Given the description of an element on the screen output the (x, y) to click on. 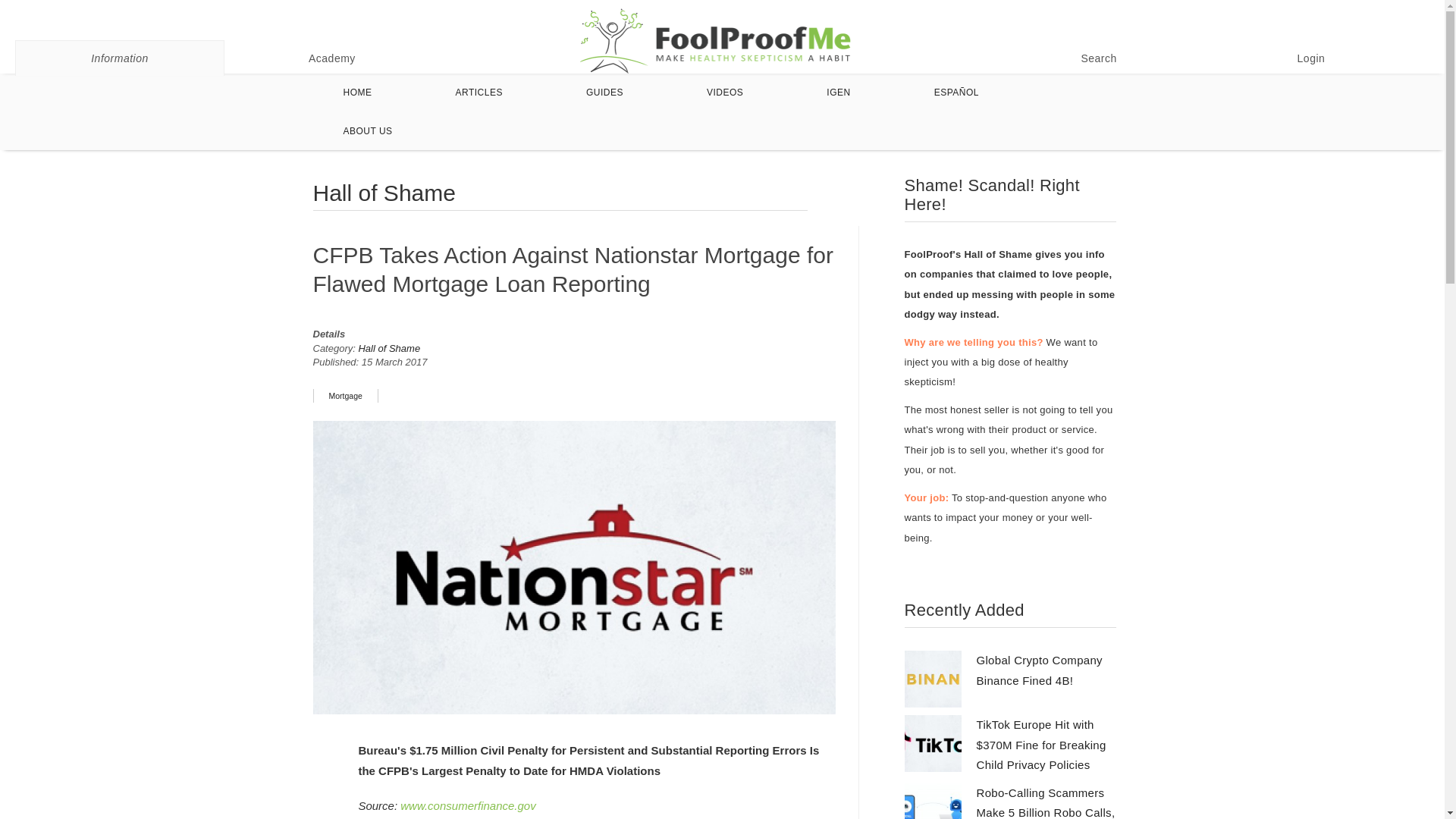
www.consumerfinance.gov (467, 805)
Global Crypto Company Binance Fined 4B! (1039, 669)
GUIDES (604, 92)
IGEN (838, 92)
Information (119, 58)
ABOUT US (368, 130)
Mortgage (345, 395)
Hall of Shame (389, 348)
HOME (357, 92)
ARTICLES (478, 92)
